Given the description of an element on the screen output the (x, y) to click on. 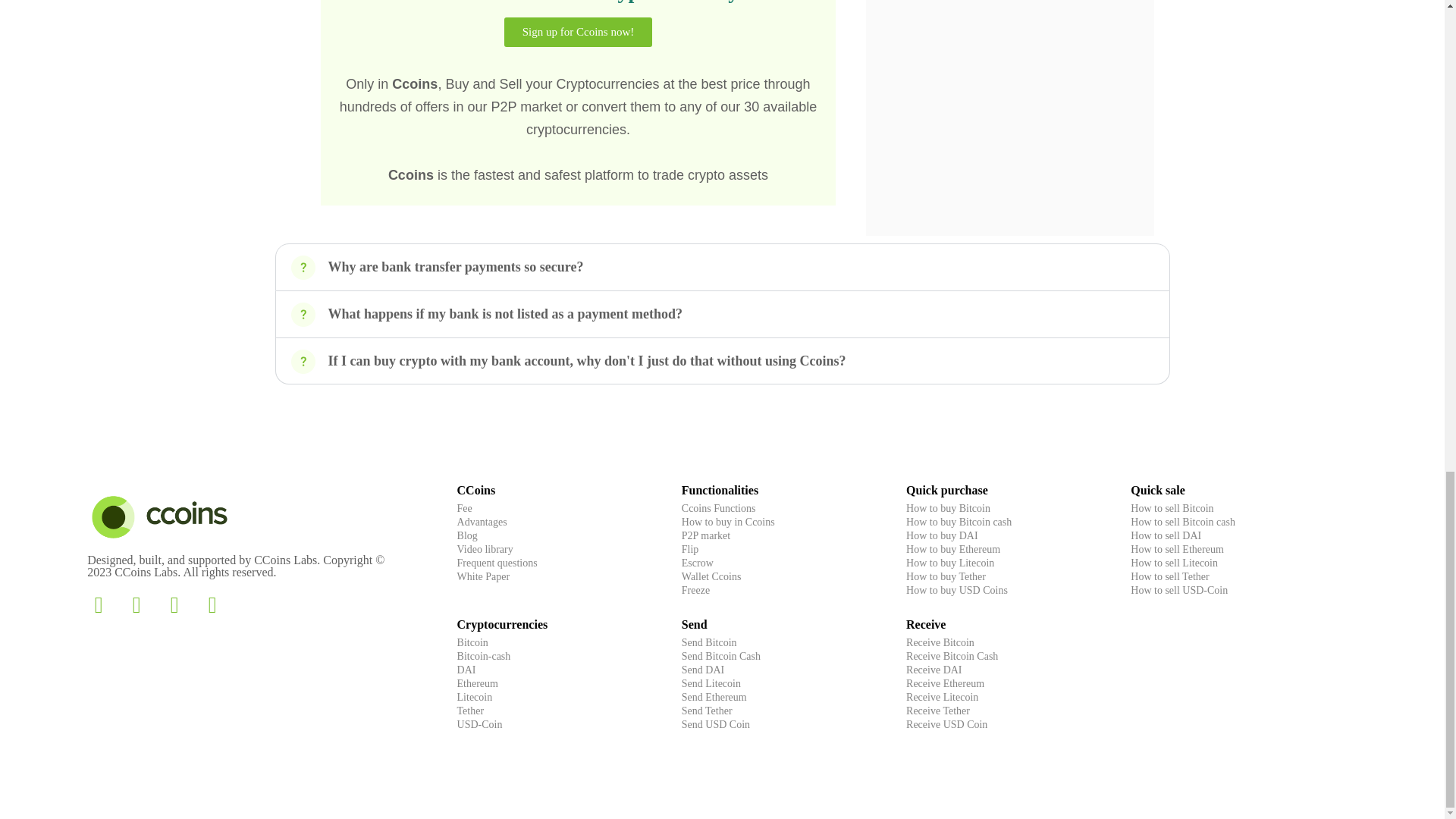
Sign up for Ccoins now! (577, 31)
Blog (467, 535)
How to buy in Ccoins (727, 521)
Advantages (481, 521)
How to buy Bitcoin cash (958, 521)
Fee (464, 508)
Video library (485, 549)
P2P market (705, 535)
Ccoins Functions (718, 508)
Frequent questions (497, 562)
Freeze (695, 590)
What happens if my bank is not listed as a payment method? (504, 313)
Why are bank transfer payments so secure? (455, 267)
How to buy DAI (941, 535)
